Given the description of an element on the screen output the (x, y) to click on. 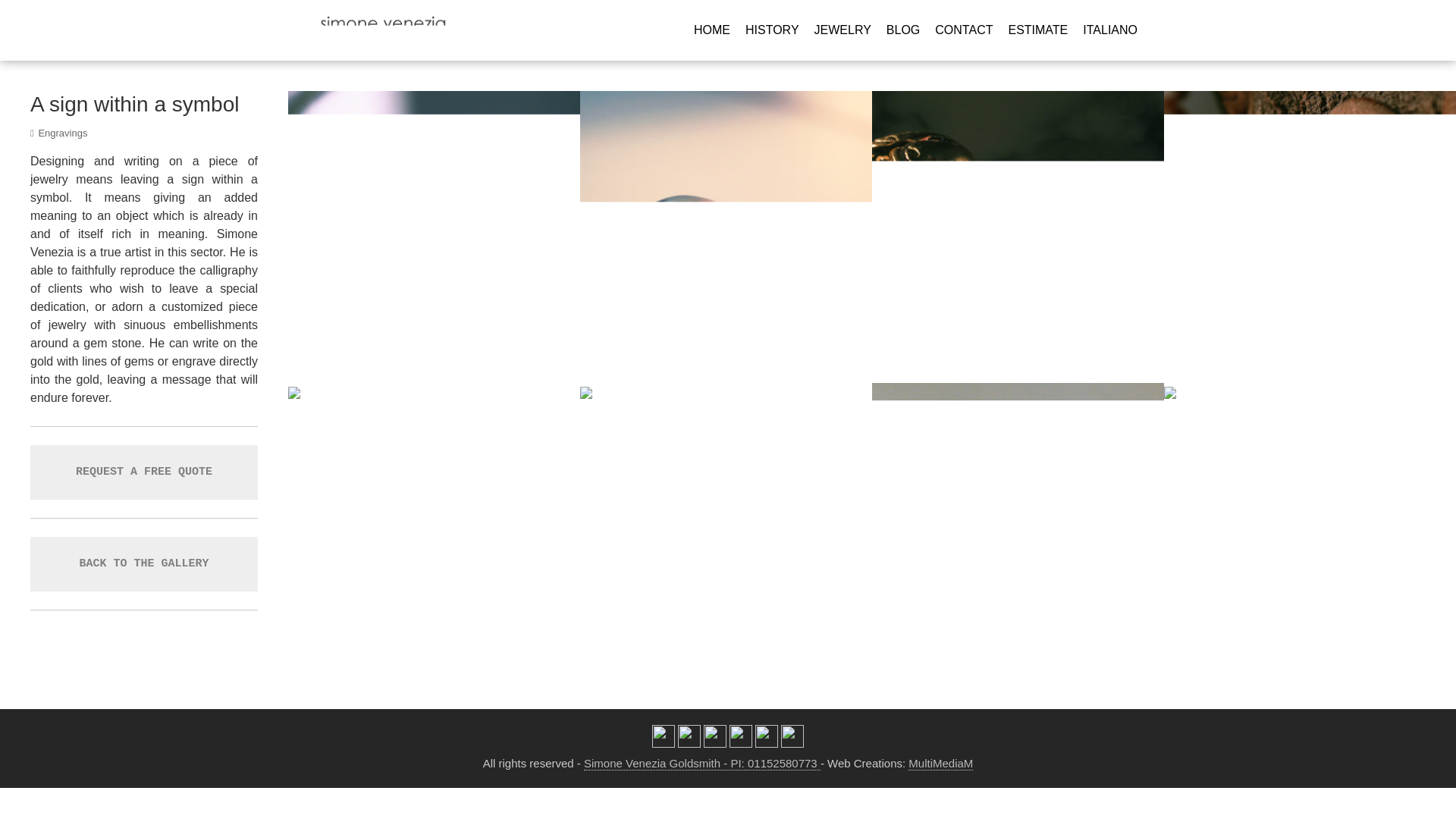
BACK TO THE GALLERY (143, 563)
JEWELRY (841, 30)
CONTACT (963, 30)
MultiMediaM (940, 763)
ESTIMATE (1037, 30)
Engravings (62, 132)
ITALIANO (1110, 30)
REQUEST A FREE QUOTE (143, 472)
Simone Venezia Goldsmith - PI: 01152580773 (702, 763)
